Given the description of an element on the screen output the (x, y) to click on. 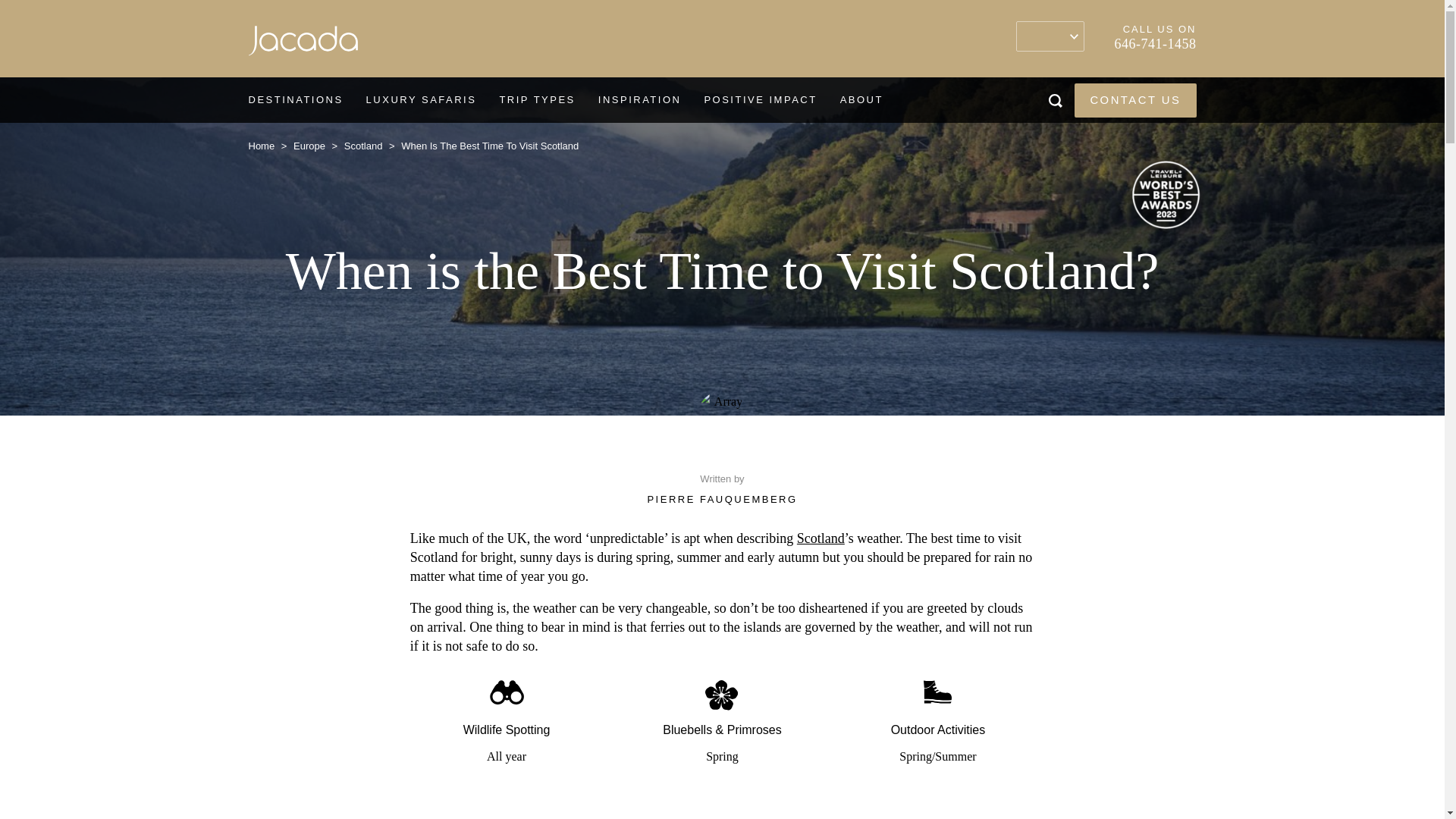
646-741-1458 (1155, 43)
Jacada Travel (303, 43)
DESTINATIONS (294, 99)
